Given the description of an element on the screen output the (x, y) to click on. 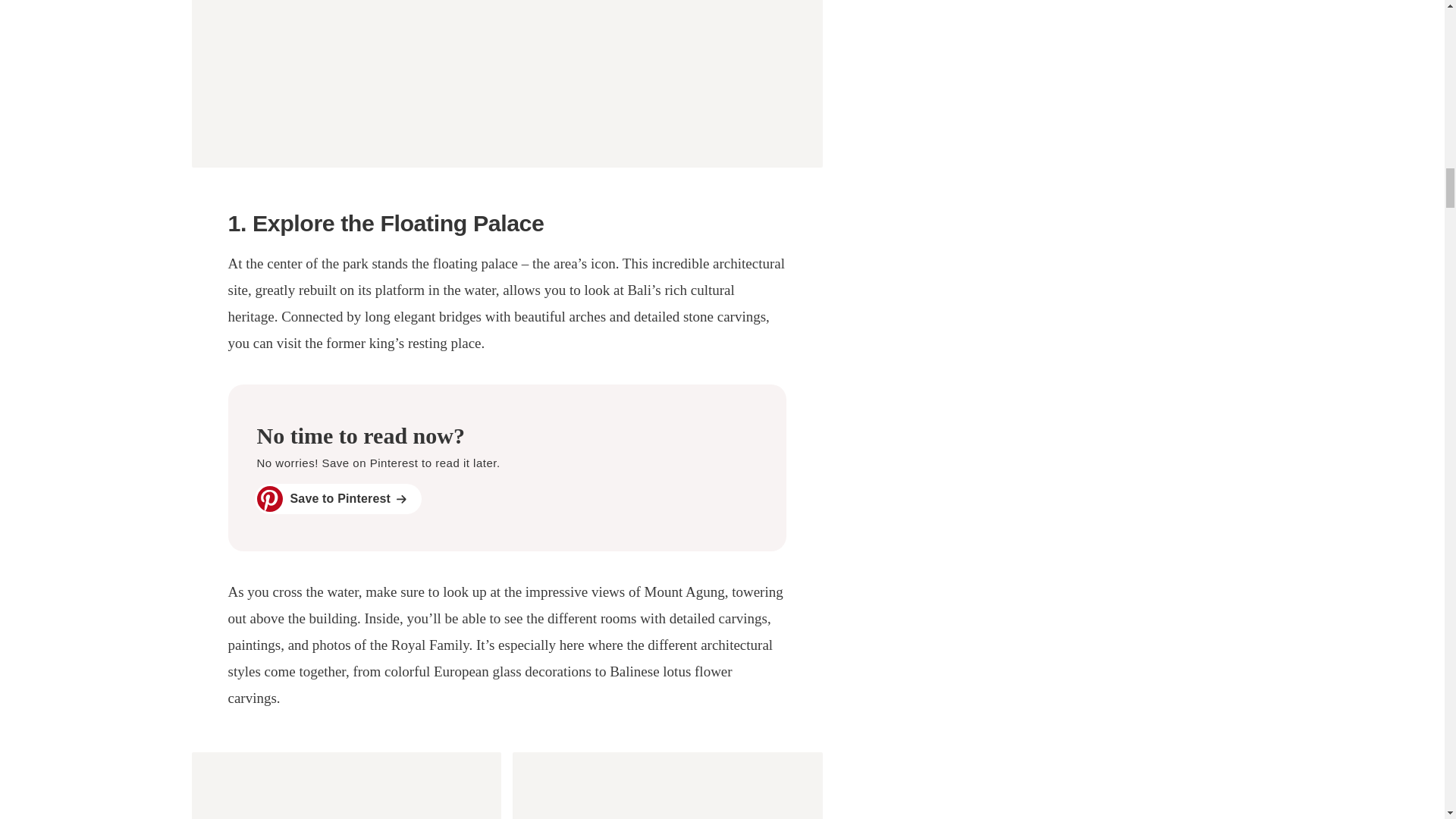
Save this article on Pinterest (506, 467)
